Given the description of an element on the screen output the (x, y) to click on. 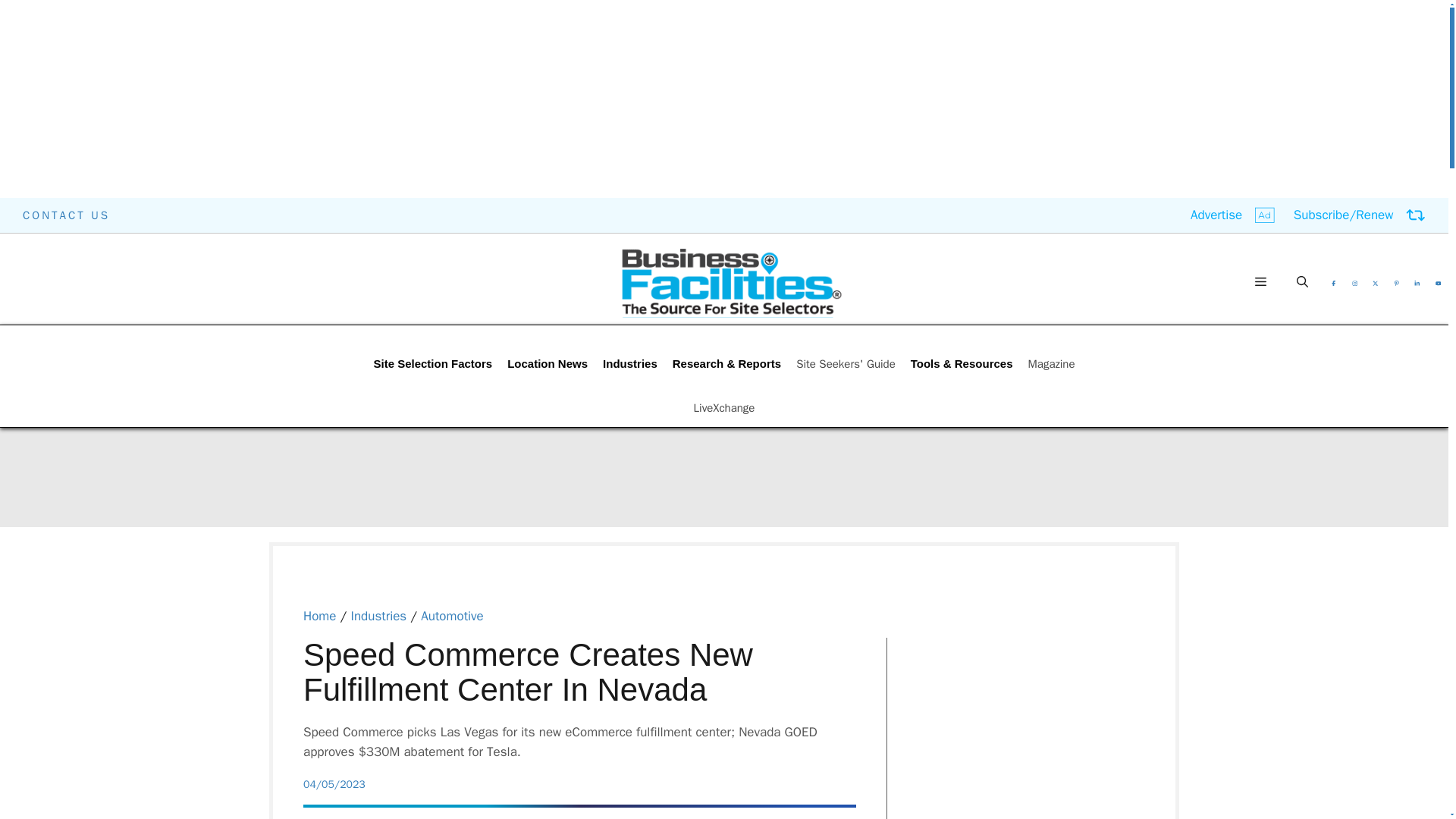
CONTACT US (66, 214)
Business Facilities Magazine (731, 281)
Site Selection Factors (432, 364)
Advertise (1233, 215)
Location News (547, 364)
